Given the description of an element on the screen output the (x, y) to click on. 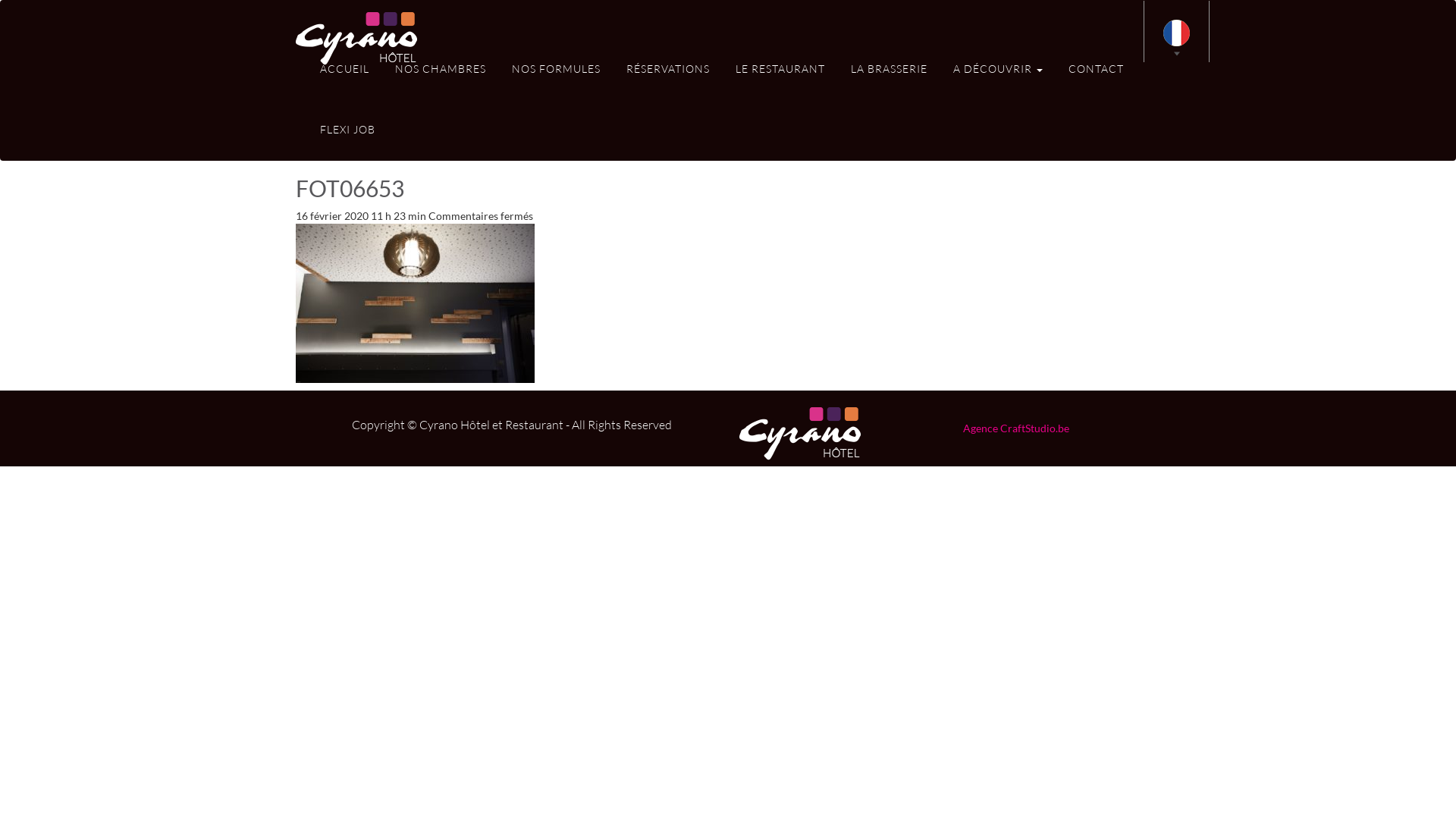
Agence CraftStudio.be Element type: text (1016, 428)
CONTACT Element type: text (1095, 65)
NOS FORMULES Element type: text (555, 65)
FLEXI JOB Element type: text (347, 125)
LA BRASSERIE Element type: text (888, 65)
LE RESTAURANT Element type: text (780, 65)
NOS CHAMBRES Element type: text (440, 65)
ACCUEIL Element type: text (344, 65)
